Given the description of an element on the screen output the (x, y) to click on. 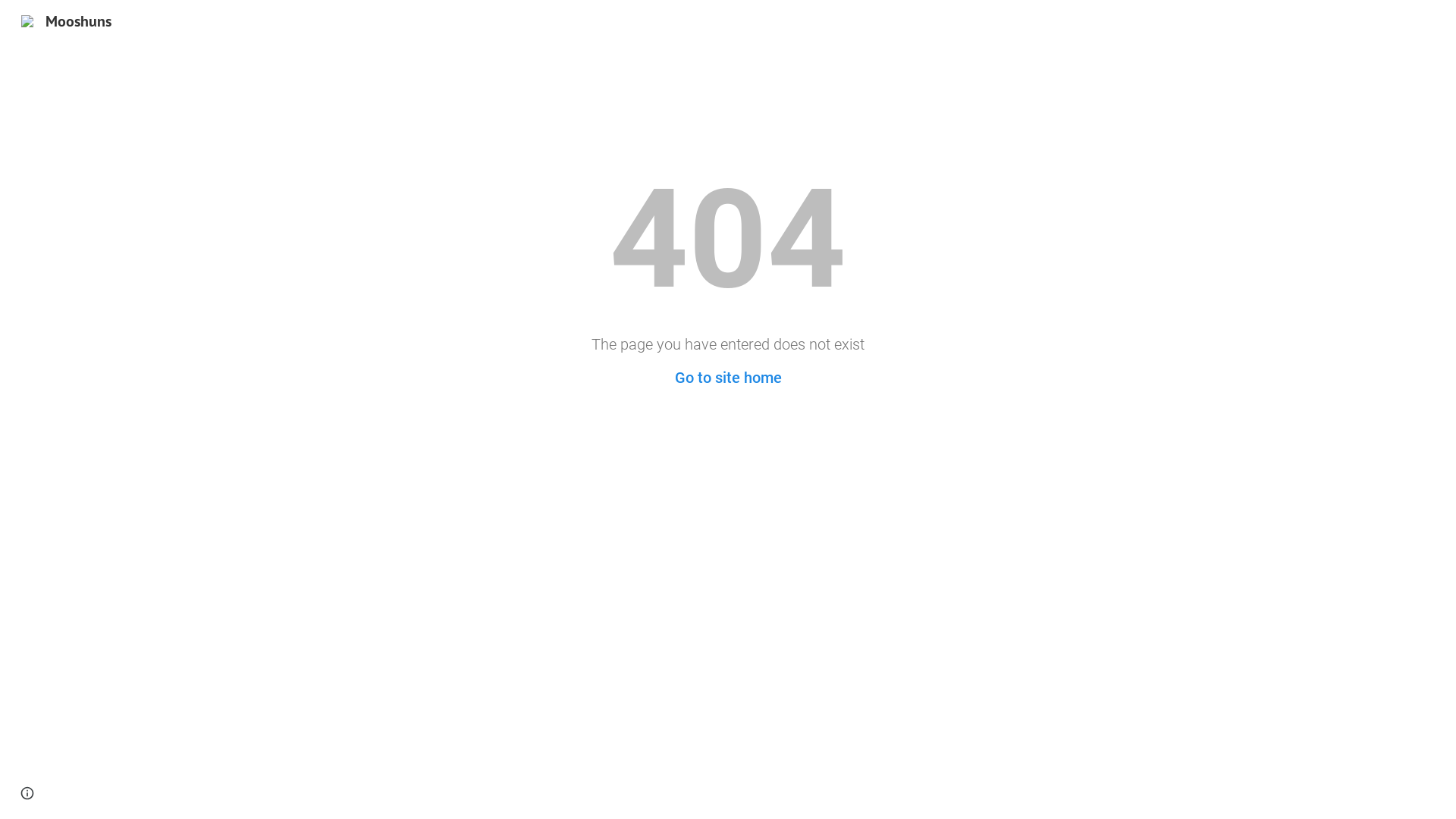
Go to site home Element type: text (727, 377)
Mooshuns Element type: text (66, 19)
